Given the description of an element on the screen output the (x, y) to click on. 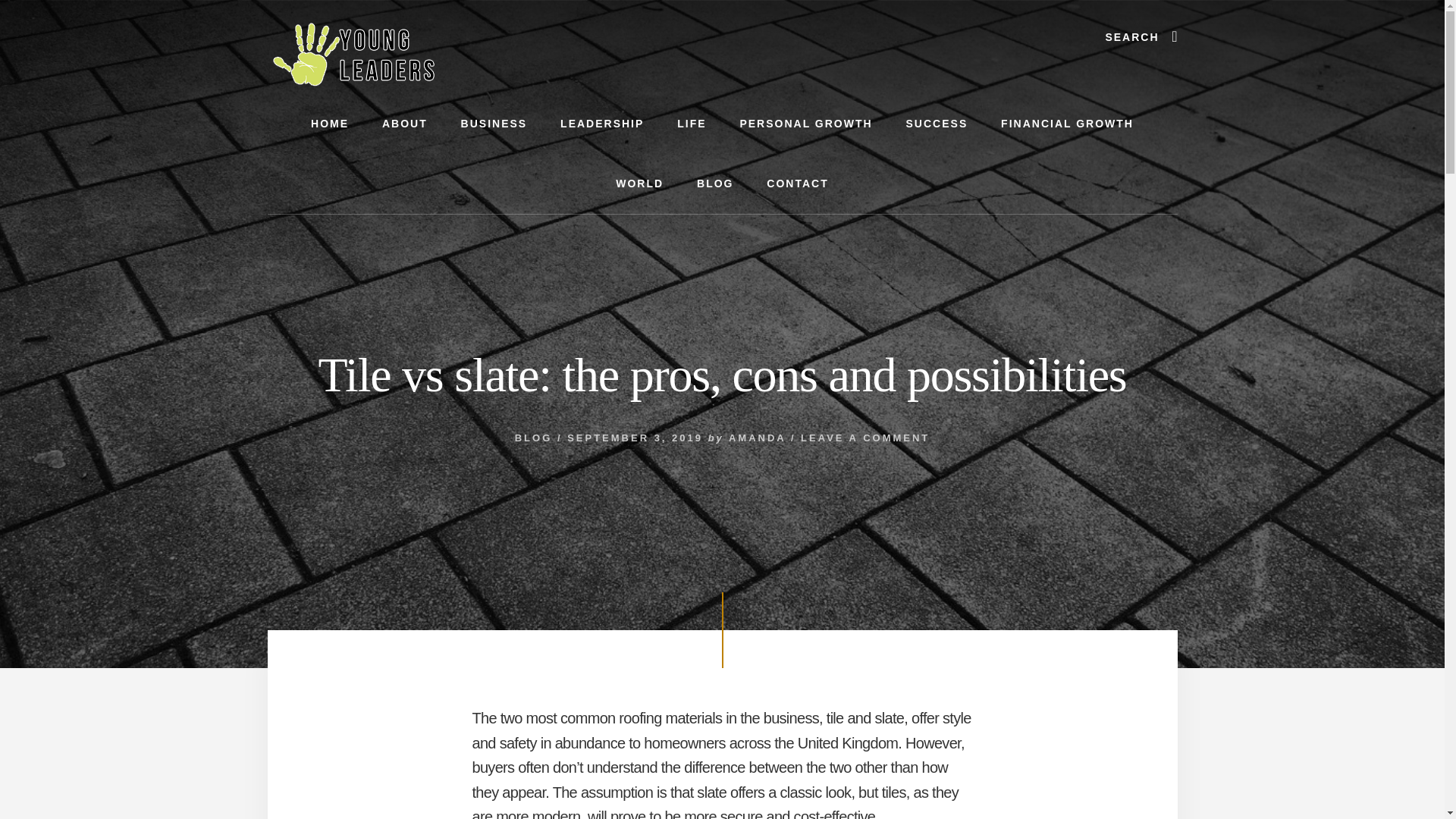
LIFE (691, 123)
LEAVE A COMMENT (865, 437)
HOME (329, 123)
CONTACT (797, 183)
WORLD (638, 183)
FINANCIAL GROWTH (1066, 123)
BUSINESS (494, 123)
LEADERSHIP (601, 123)
ABOUT (404, 123)
BLOG (714, 183)
SUCCESS (937, 123)
